Given the description of an element on the screen output the (x, y) to click on. 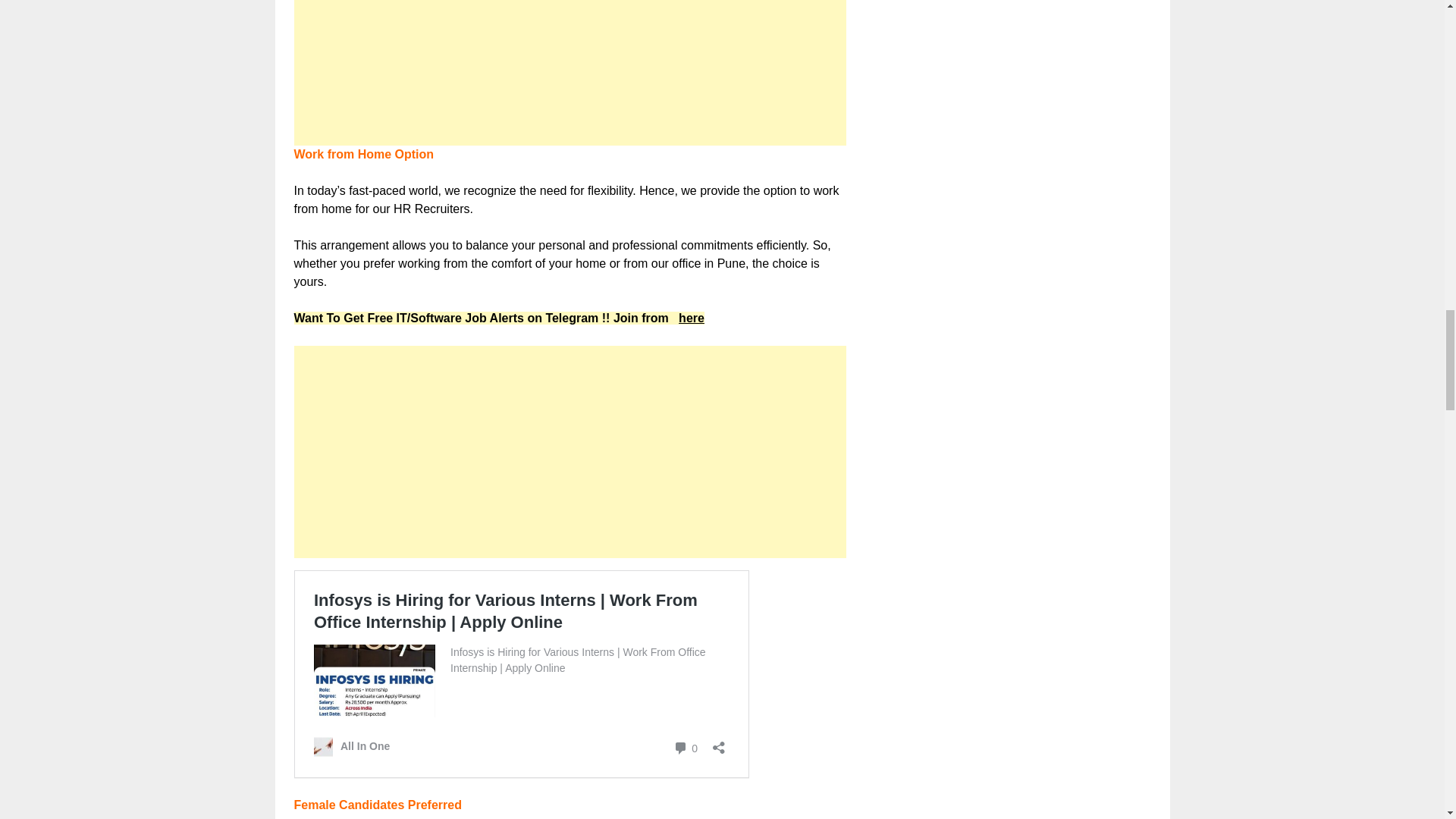
here (691, 318)
Advertisement (570, 72)
Advertisement (570, 451)
